Given the description of an element on the screen output the (x, y) to click on. 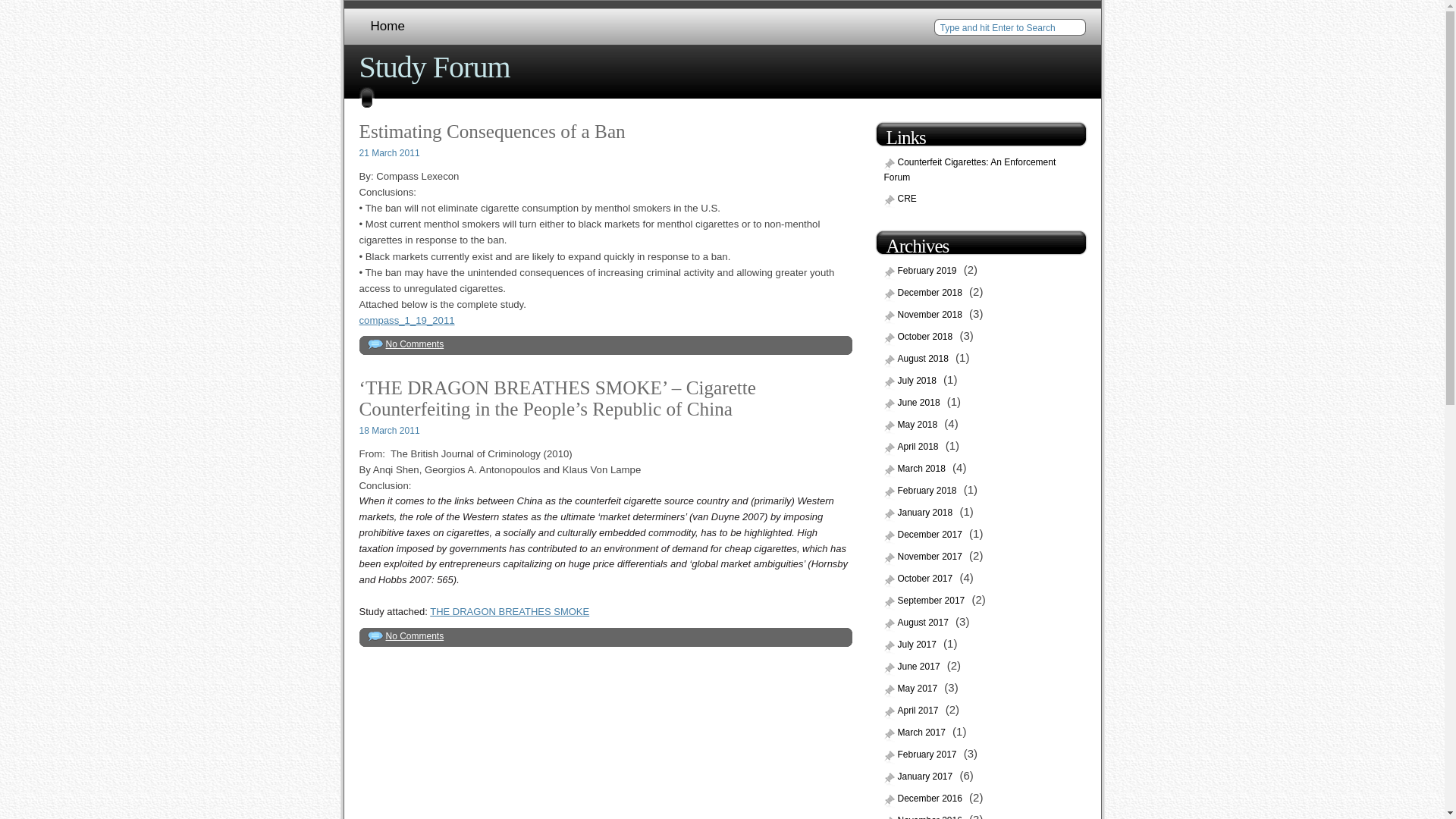
Counterfeit Cigarettes: An Enforcement Forum (970, 170)
Home (387, 26)
October 2017 (919, 579)
November 2017 (924, 556)
December 2017 (924, 535)
January 2018 (919, 513)
No Comments (414, 635)
March 2017 (916, 732)
CRE (901, 199)
August 2017 (917, 623)
